Given the description of an element on the screen output the (x, y) to click on. 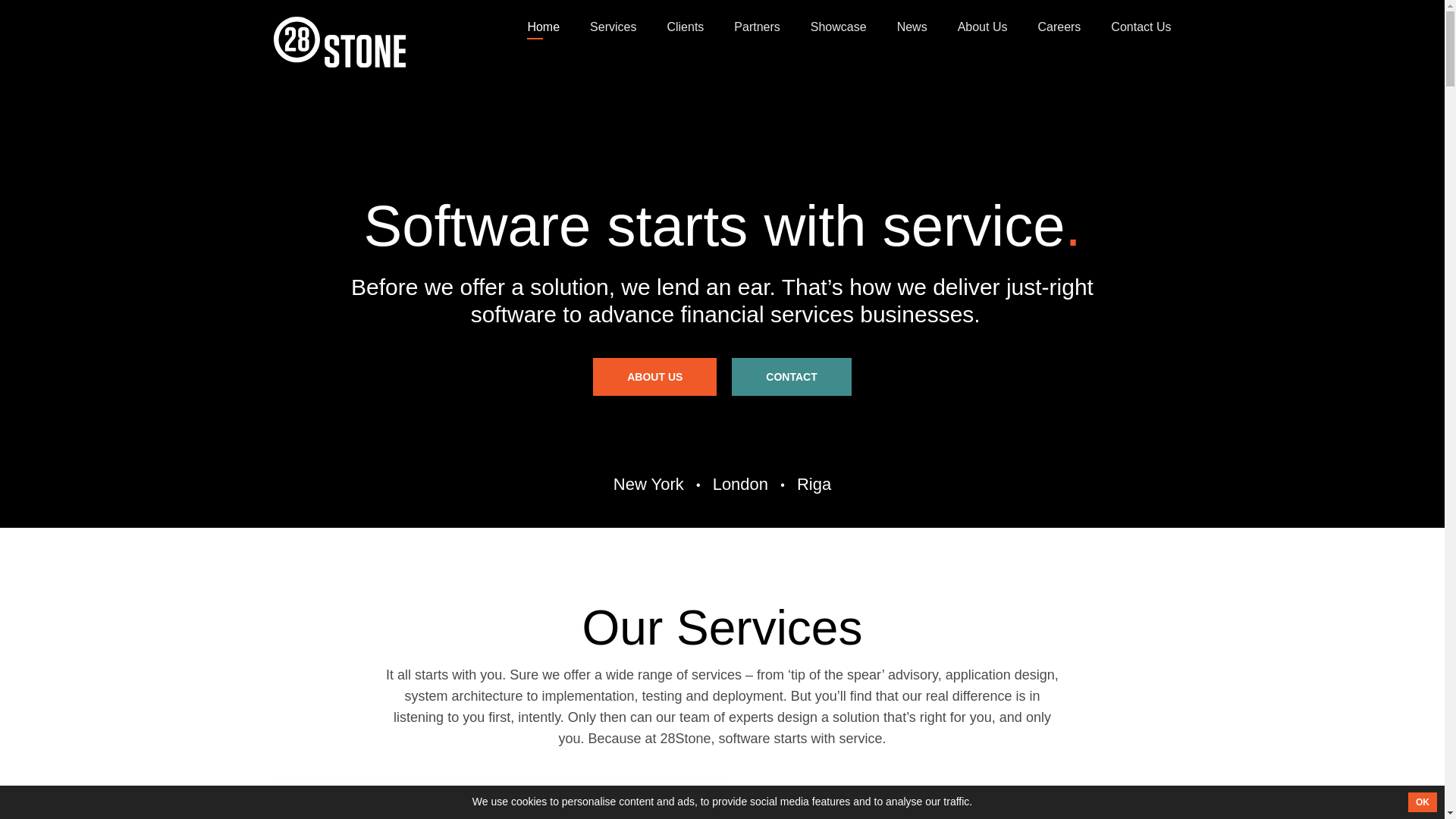
Home Element type: text (543, 26)
Careers Element type: text (1058, 26)
Services Element type: text (612, 26)
OK Element type: text (1422, 802)
Showcase Element type: text (838, 26)
About Us Element type: text (982, 26)
Partners Element type: text (756, 26)
Contact Us Element type: text (1140, 26)
News Element type: text (912, 26)
Clients Element type: text (684, 26)
CONTACT Element type: text (790, 376)
ABOUT US Element type: text (654, 376)
